Given the description of an element on the screen output the (x, y) to click on. 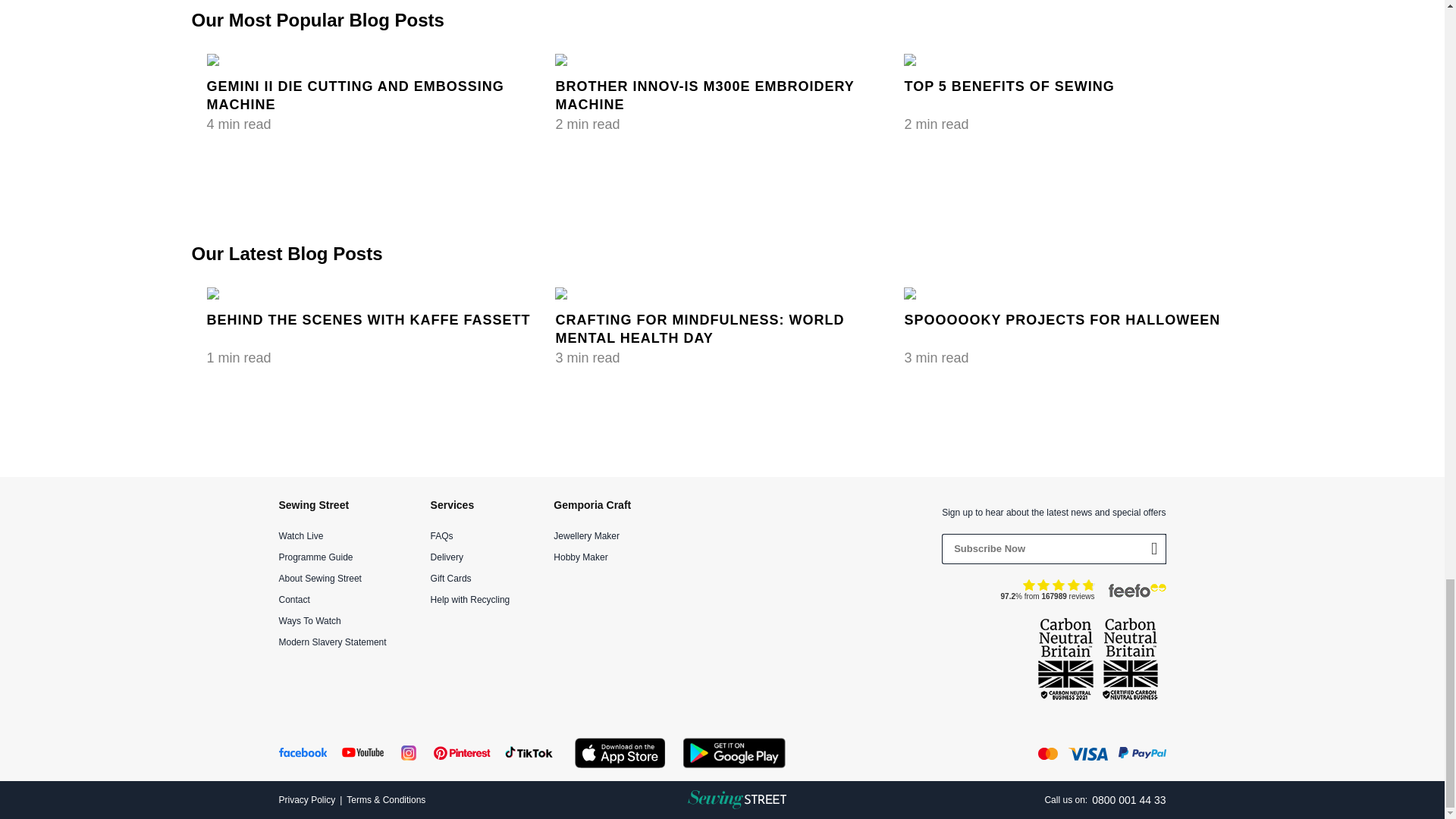
Follow us on Pinterest (461, 754)
Follow us on TikTok (528, 754)
Watch our YouTube channel (363, 753)
Like us on Facebook (303, 753)
How PayPal Works (1137, 753)
